Given the description of an element on the screen output the (x, y) to click on. 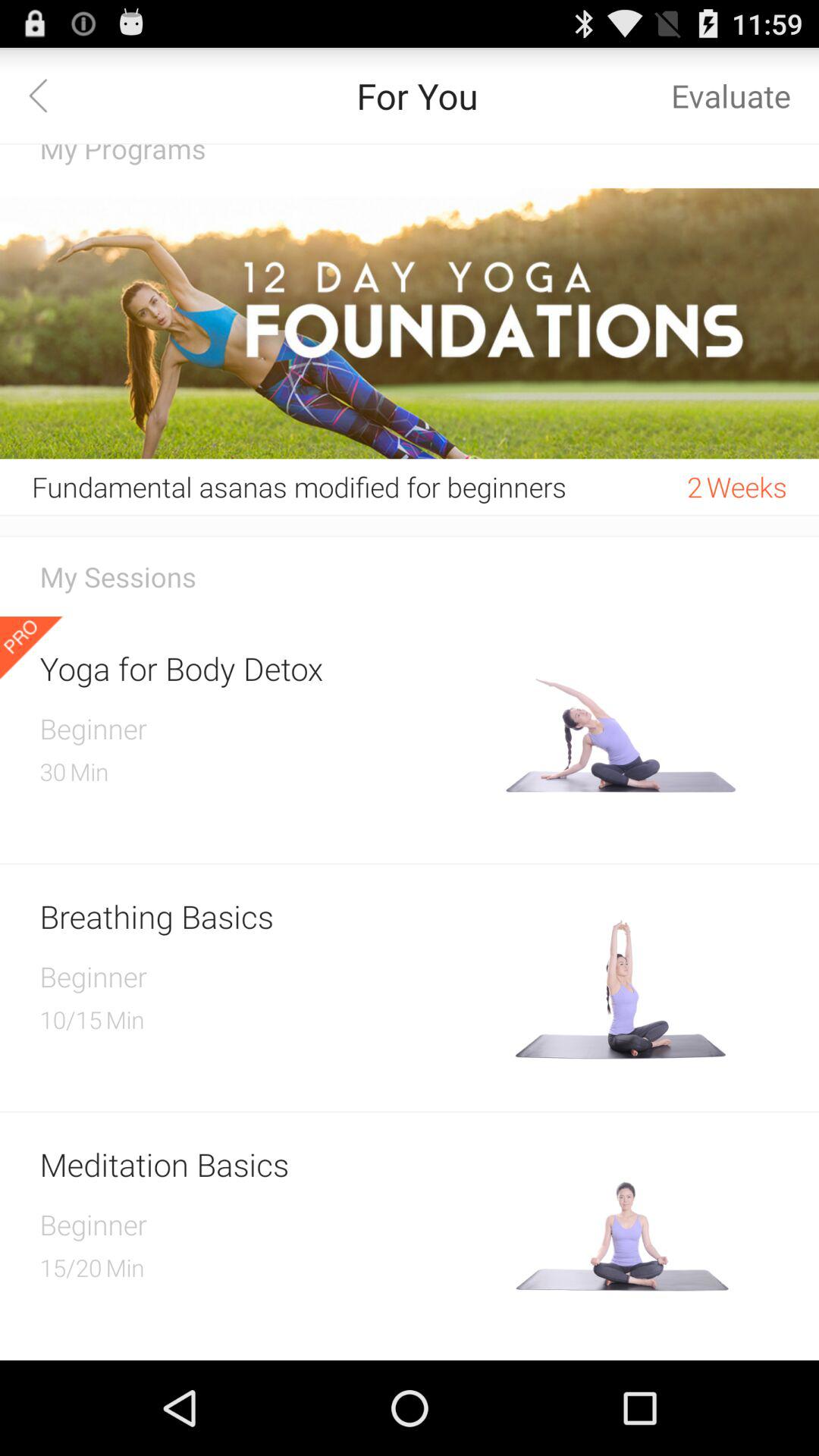
open the item below the fundamental asanas modified (409, 514)
